Given the description of an element on the screen output the (x, y) to click on. 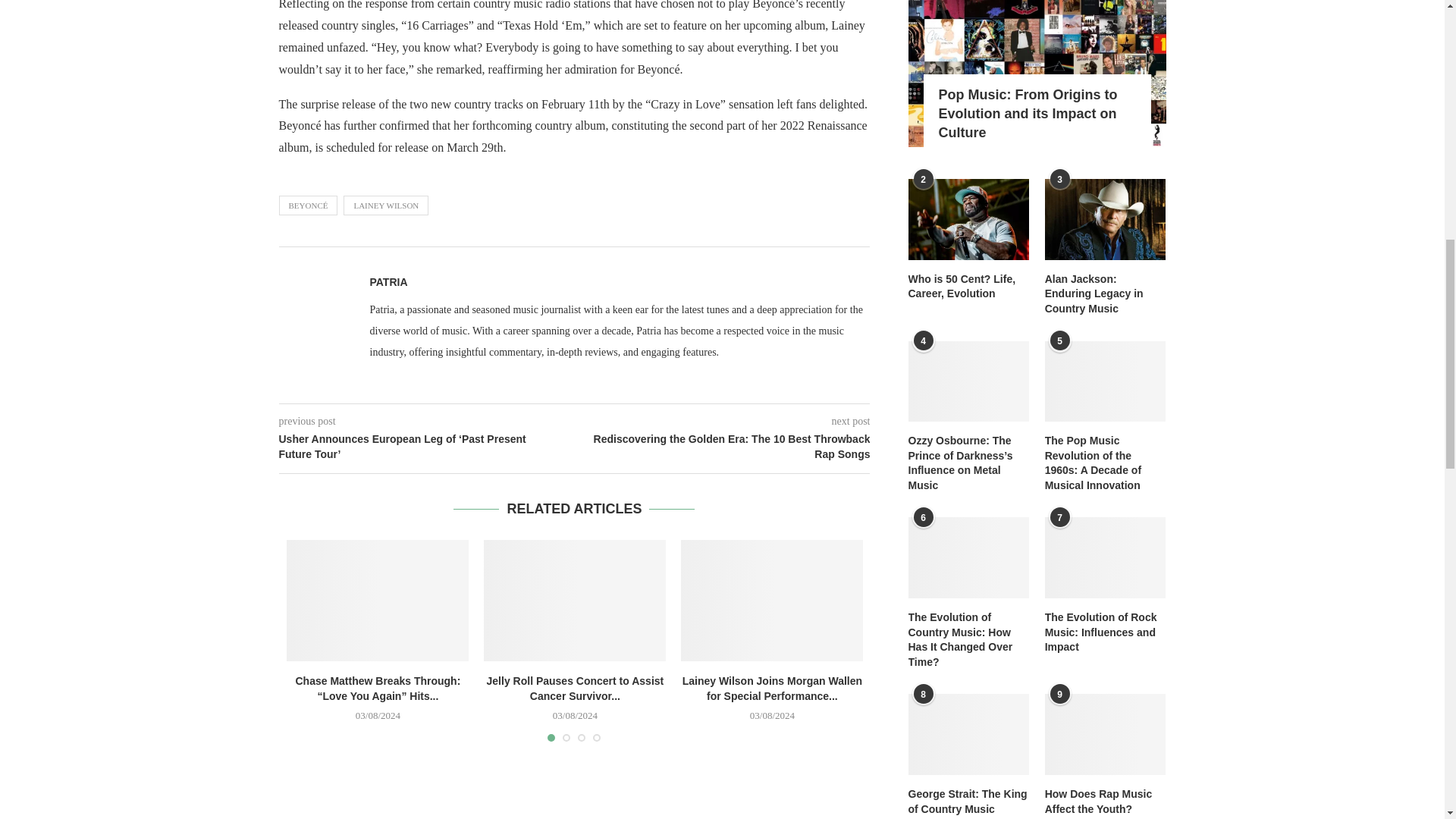
Author Patria (388, 282)
Jelly Roll Pauses Concert to Assist Cancer Survivor Fan (574, 599)
